Given the description of an element on the screen output the (x, y) to click on. 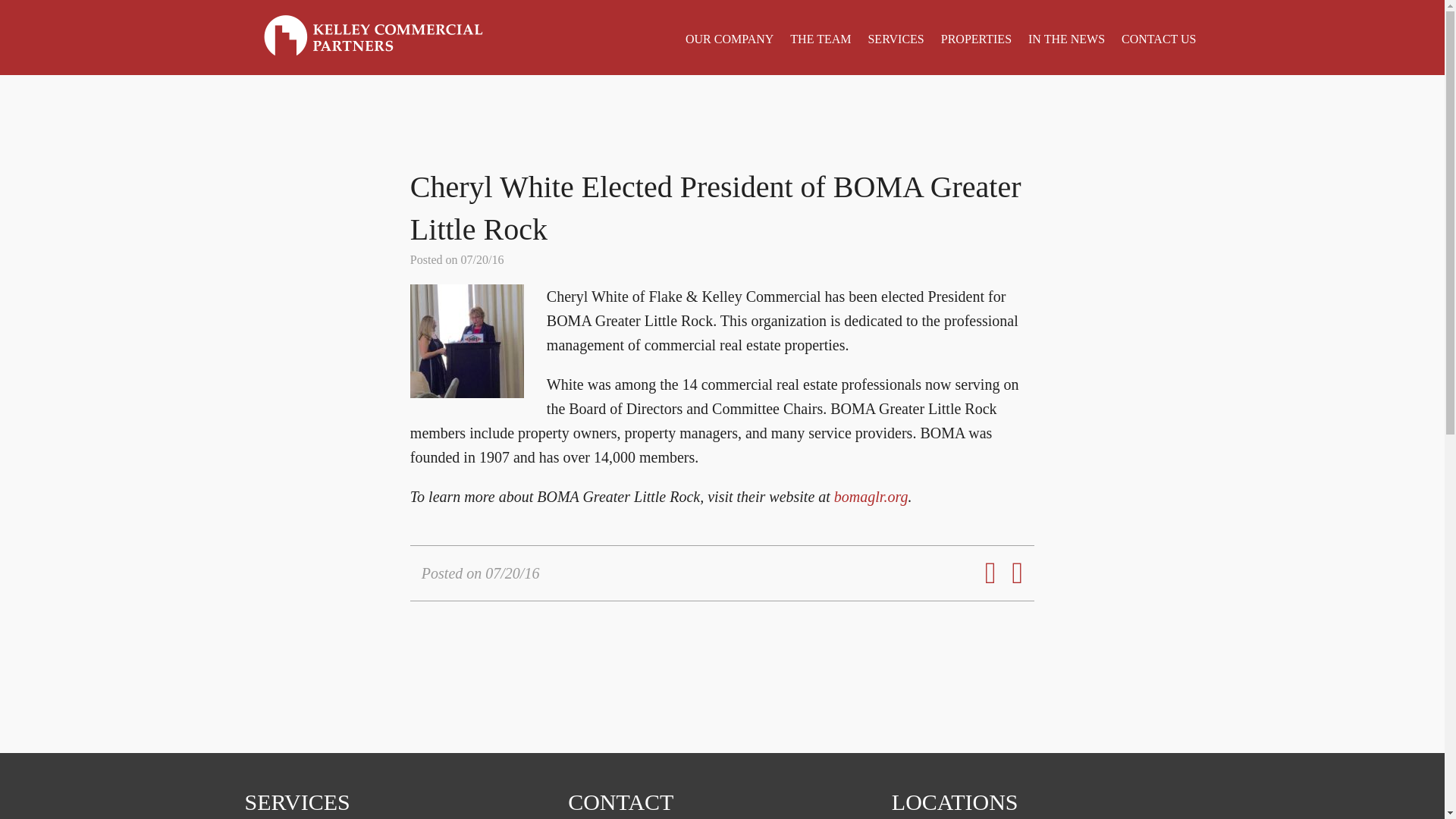
Share on Twitter (1011, 564)
SERVICES (895, 39)
CONTACT US (1158, 39)
THE TEAM (820, 39)
Share on Facebook (983, 564)
IN THE NEWS (1066, 39)
OUR COMPANY (729, 39)
Kelley Commercial Partners (373, 35)
PROPERTIES (975, 39)
bomaglr.org (871, 496)
